Given the description of an element on the screen output the (x, y) to click on. 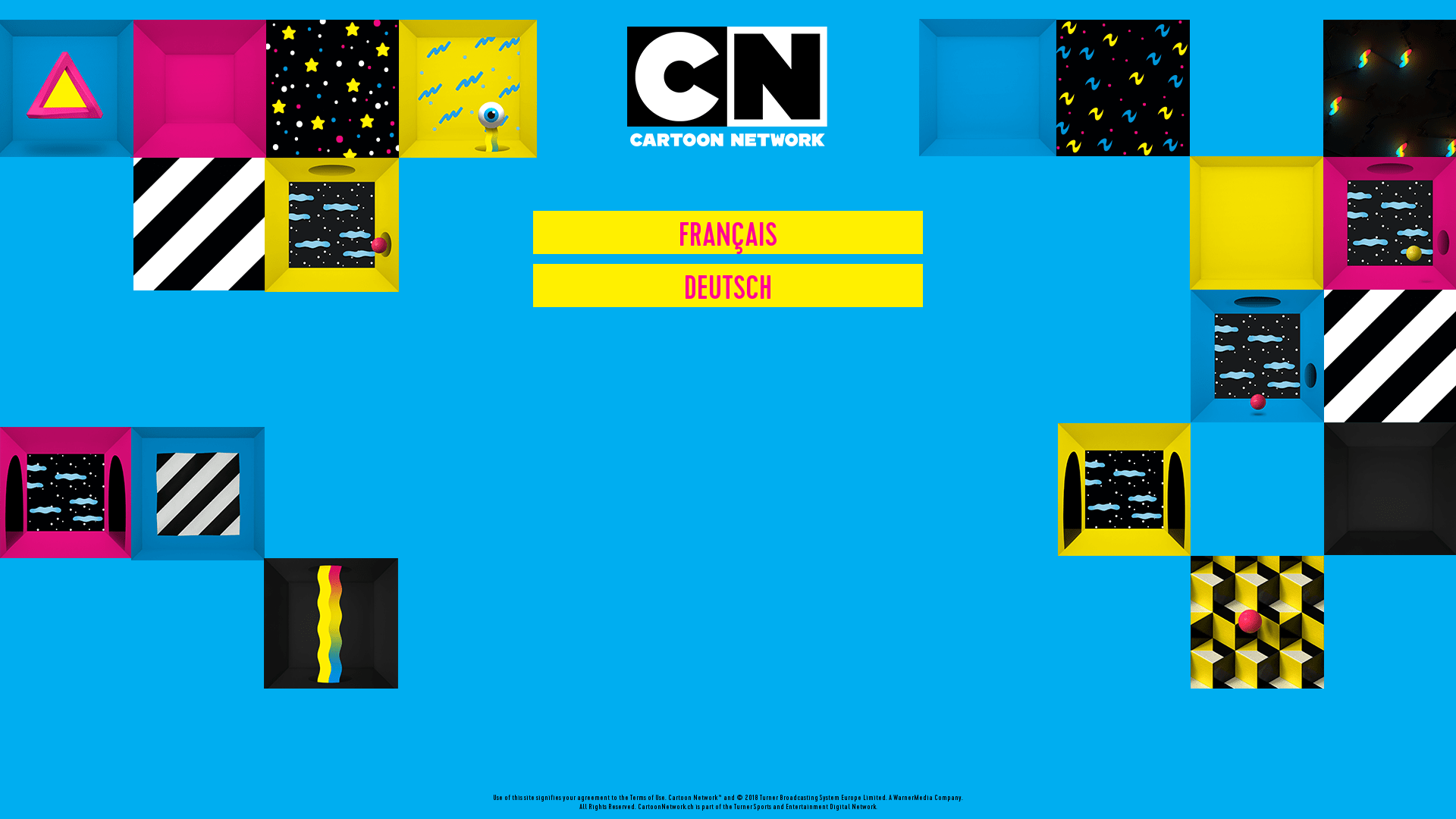
DEUTSCH Element type: text (727, 285)
